Given the description of an element on the screen output the (x, y) to click on. 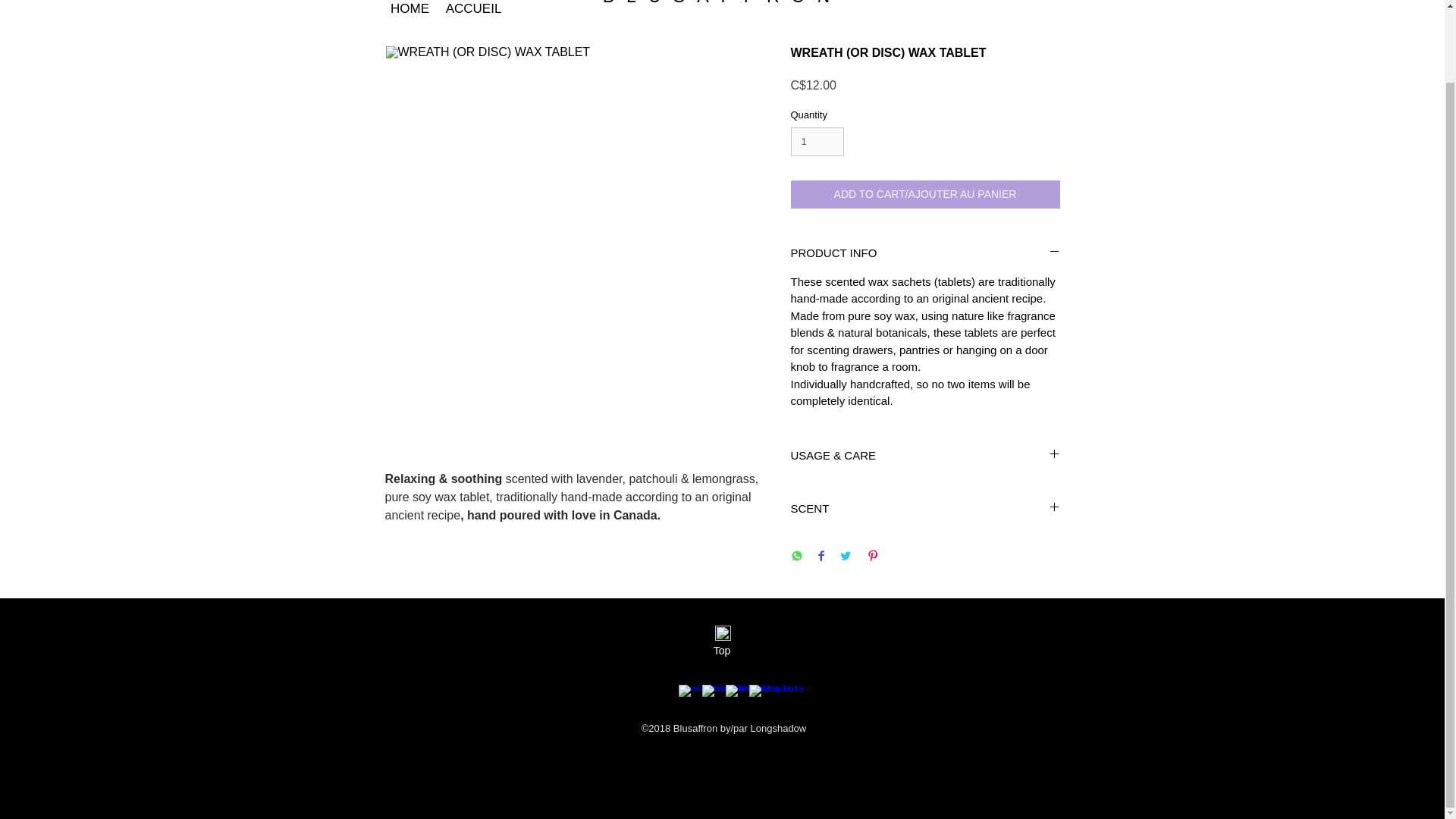
ACCUEIL (472, 10)
SCENT (924, 508)
Top (721, 651)
1 (817, 141)
HOME (408, 10)
PRODUCT INFO (924, 252)
